Given the description of an element on the screen output the (x, y) to click on. 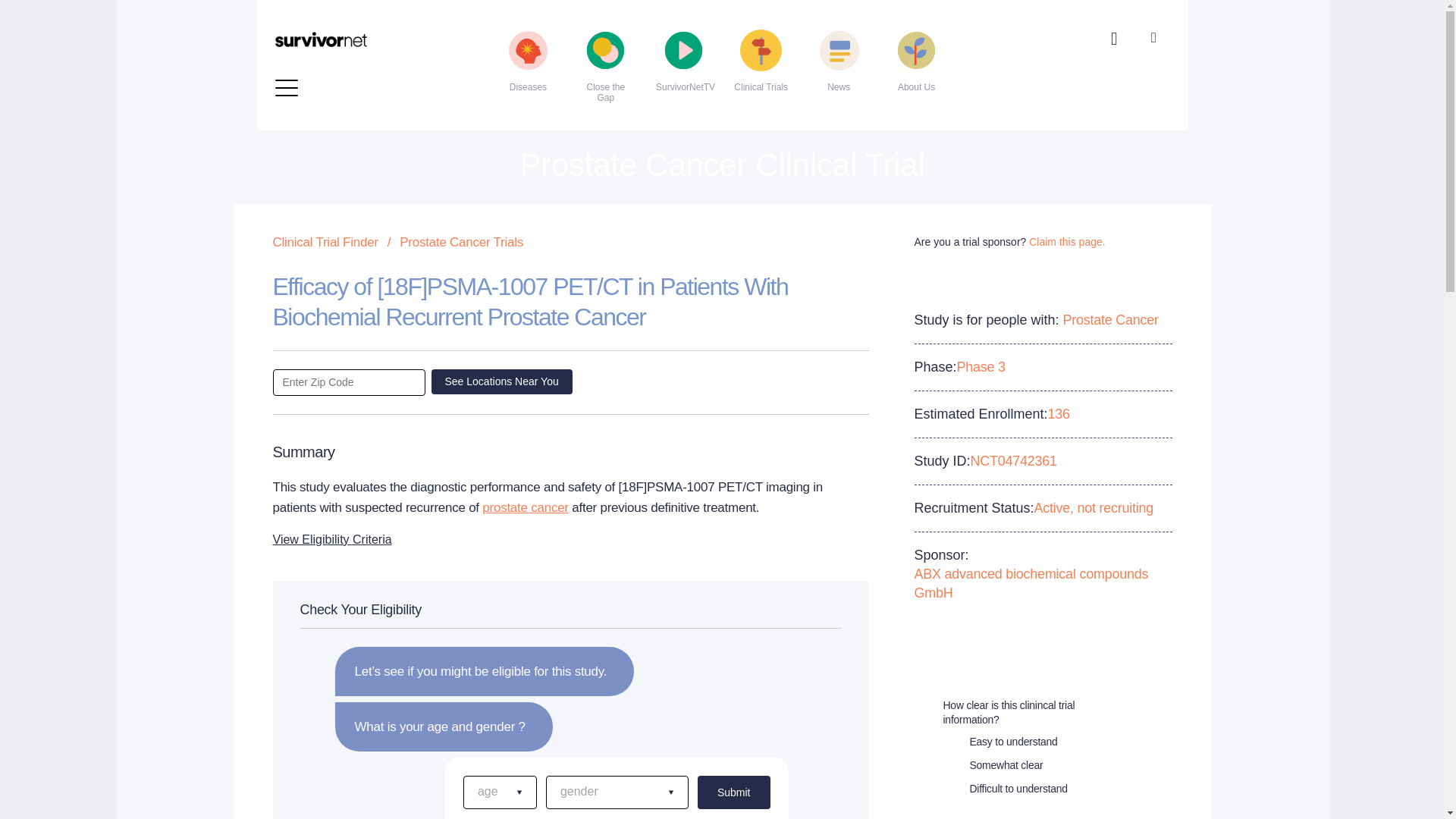
Liver Cancer (364, 78)
Esophageal Cancer (364, 7)
Prostate Cancer (661, 28)
Ovarian Cancer (661, 7)
Heart Failure (364, 28)
Psoriasis (661, 52)
